Given the description of an element on the screen output the (x, y) to click on. 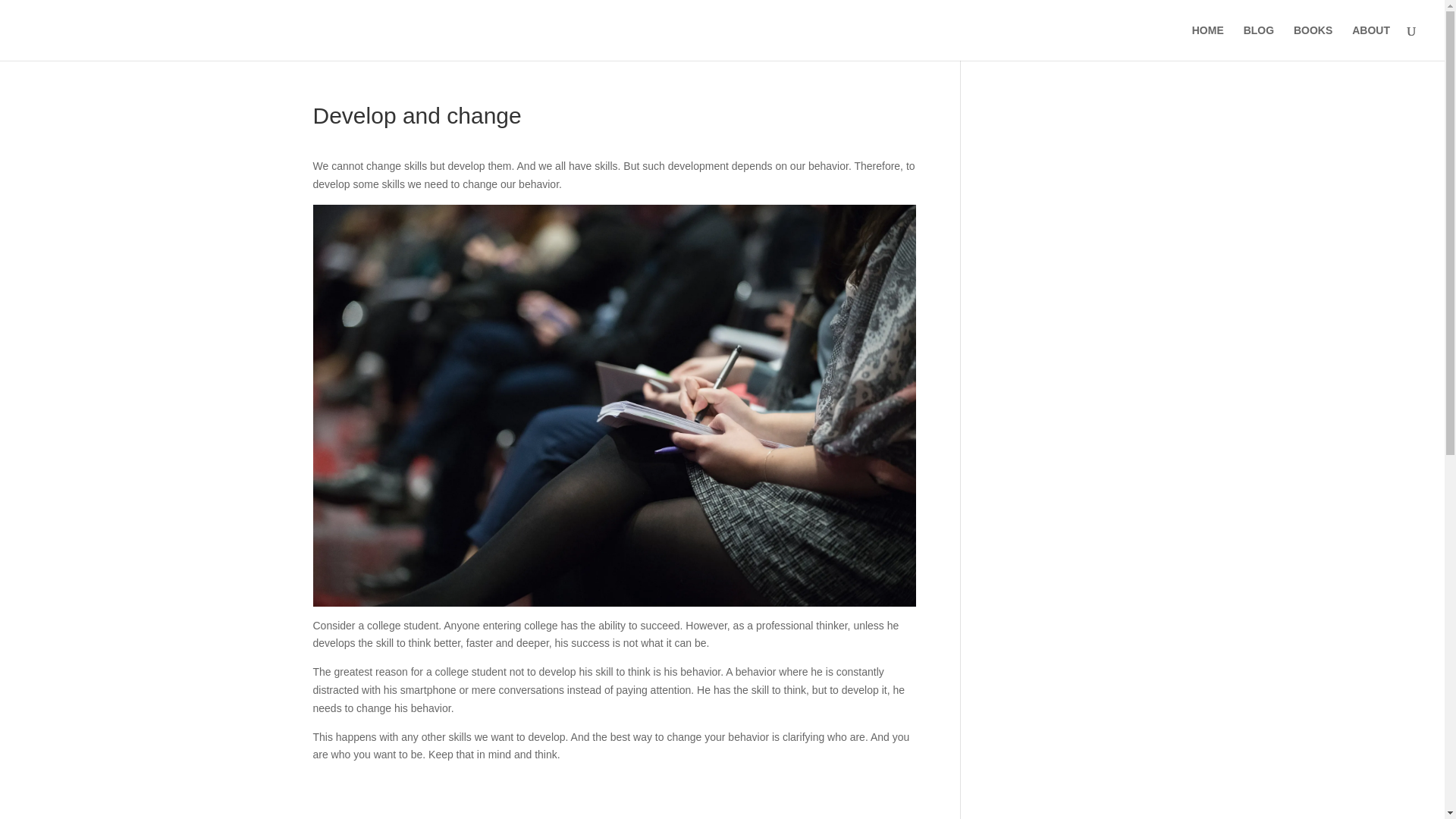
ABOUT (1371, 42)
HOME (1208, 42)
BOOKS (1313, 42)
